Given the description of an element on the screen output the (x, y) to click on. 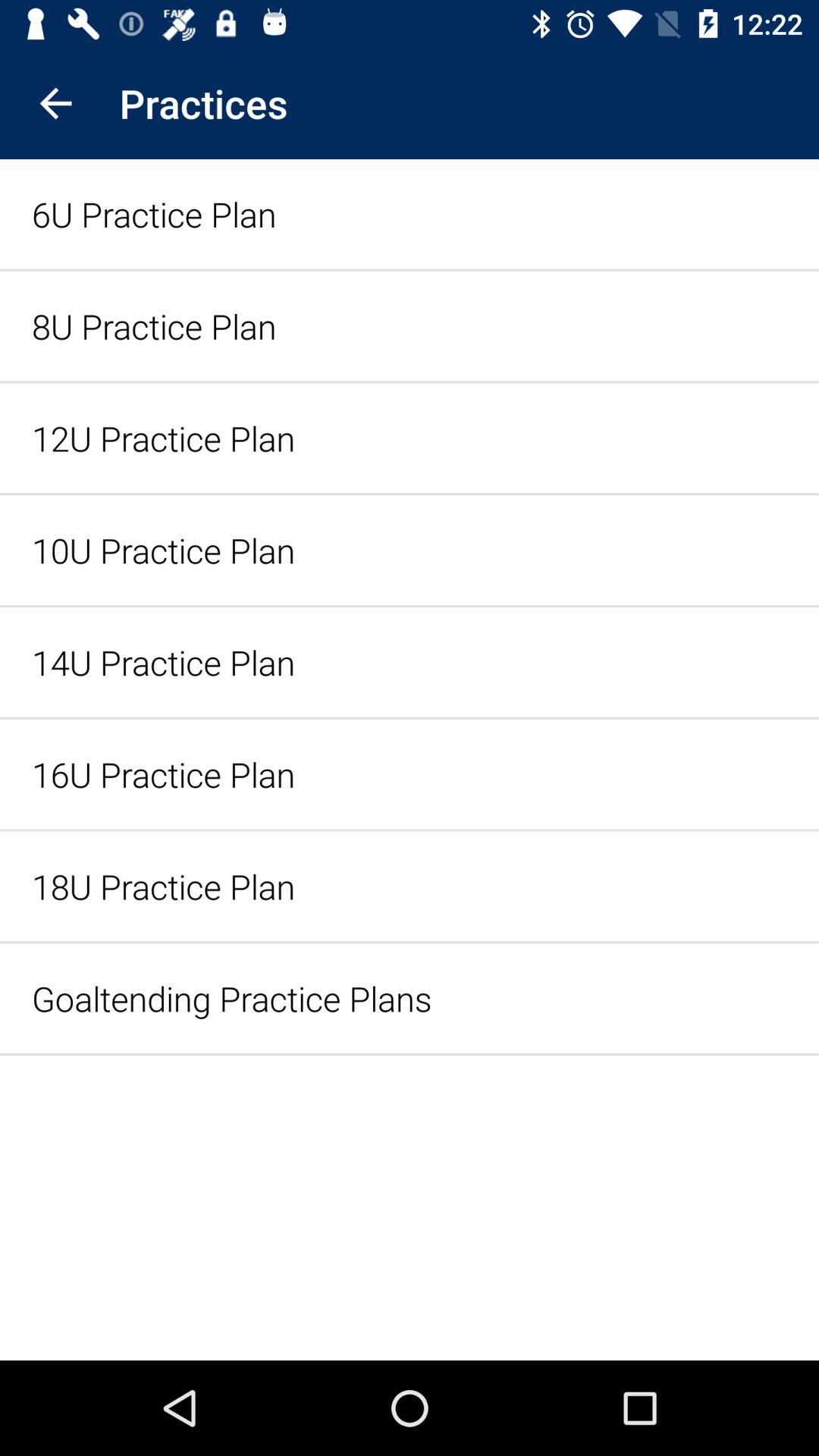
click icon above the 6u practice plan icon (55, 103)
